Given the description of an element on the screen output the (x, y) to click on. 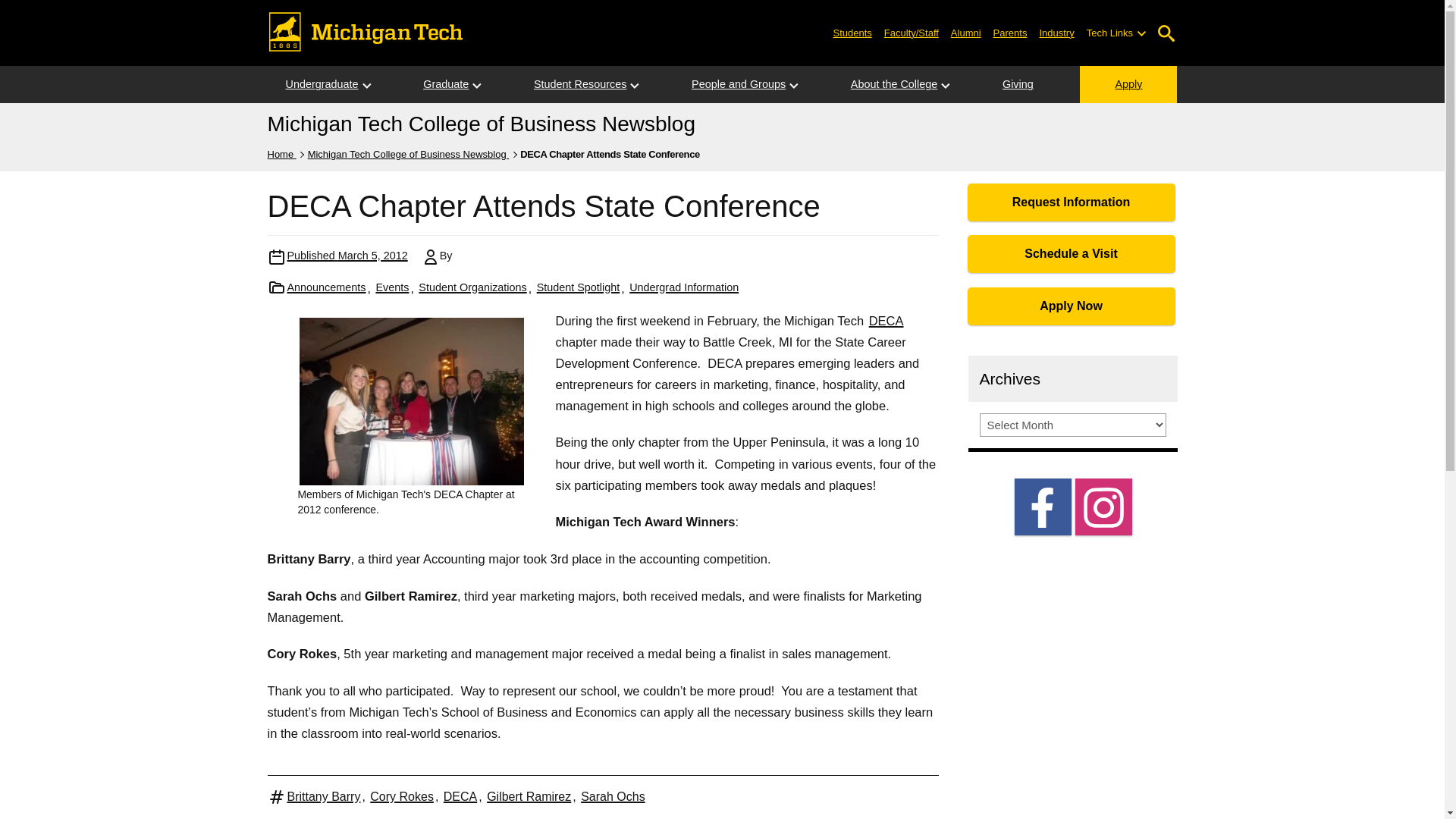
DECA (886, 320)
Parents (1010, 32)
Students (852, 32)
Industry (1056, 32)
Undergraduate (320, 84)
Open Search (1166, 33)
Graduate (445, 84)
Alumni (965, 32)
